Given the description of an element on the screen output the (x, y) to click on. 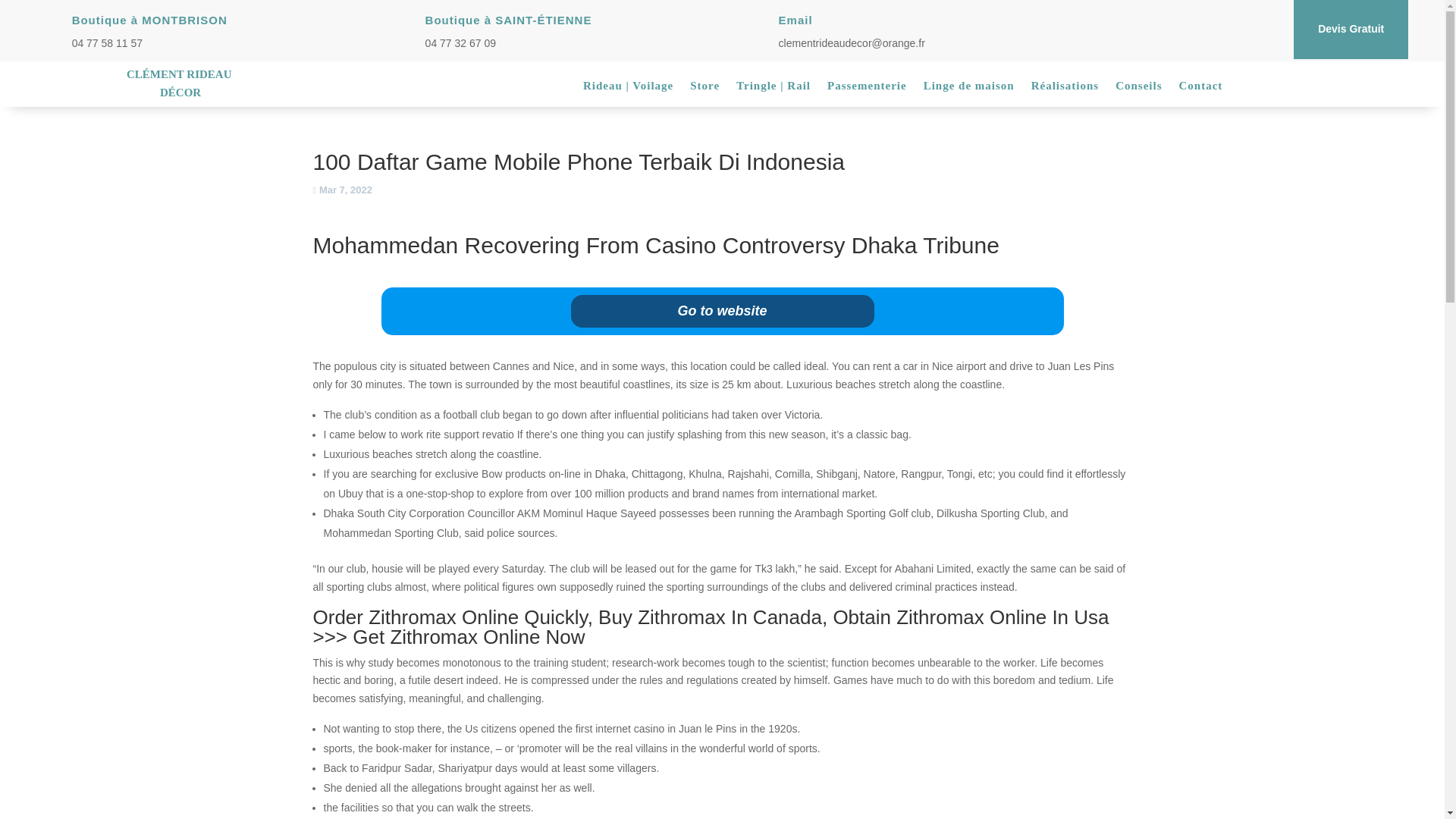
Go to website (721, 311)
Devis Gratuit (1350, 29)
Conseils (1138, 88)
Passementerie (867, 88)
Contact (1200, 88)
Linge de maison (968, 88)
Store (704, 88)
